Given the description of an element on the screen output the (x, y) to click on. 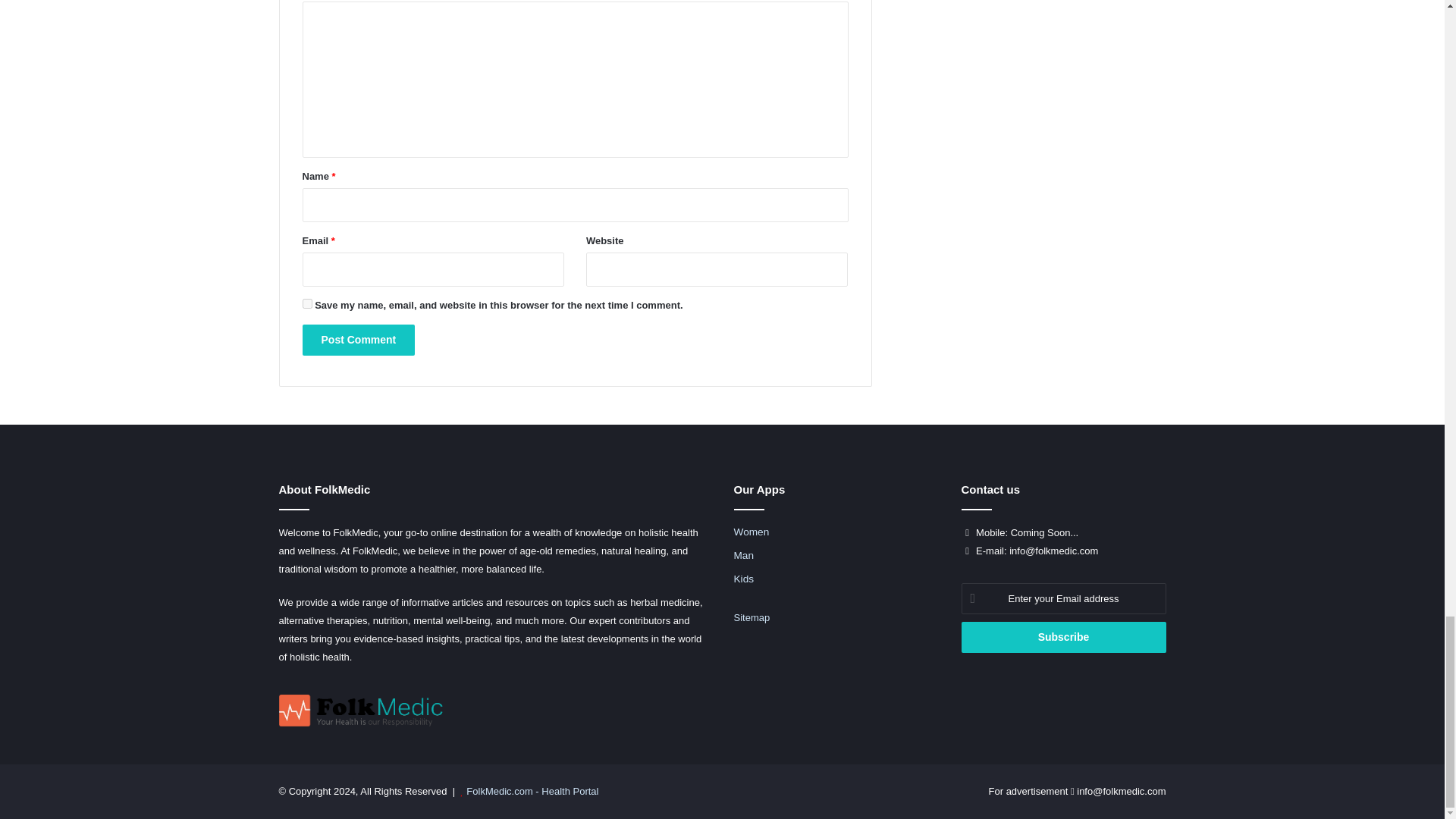
Subscribe (1063, 636)
yes (306, 303)
Post Comment (357, 339)
